Given the description of an element on the screen output the (x, y) to click on. 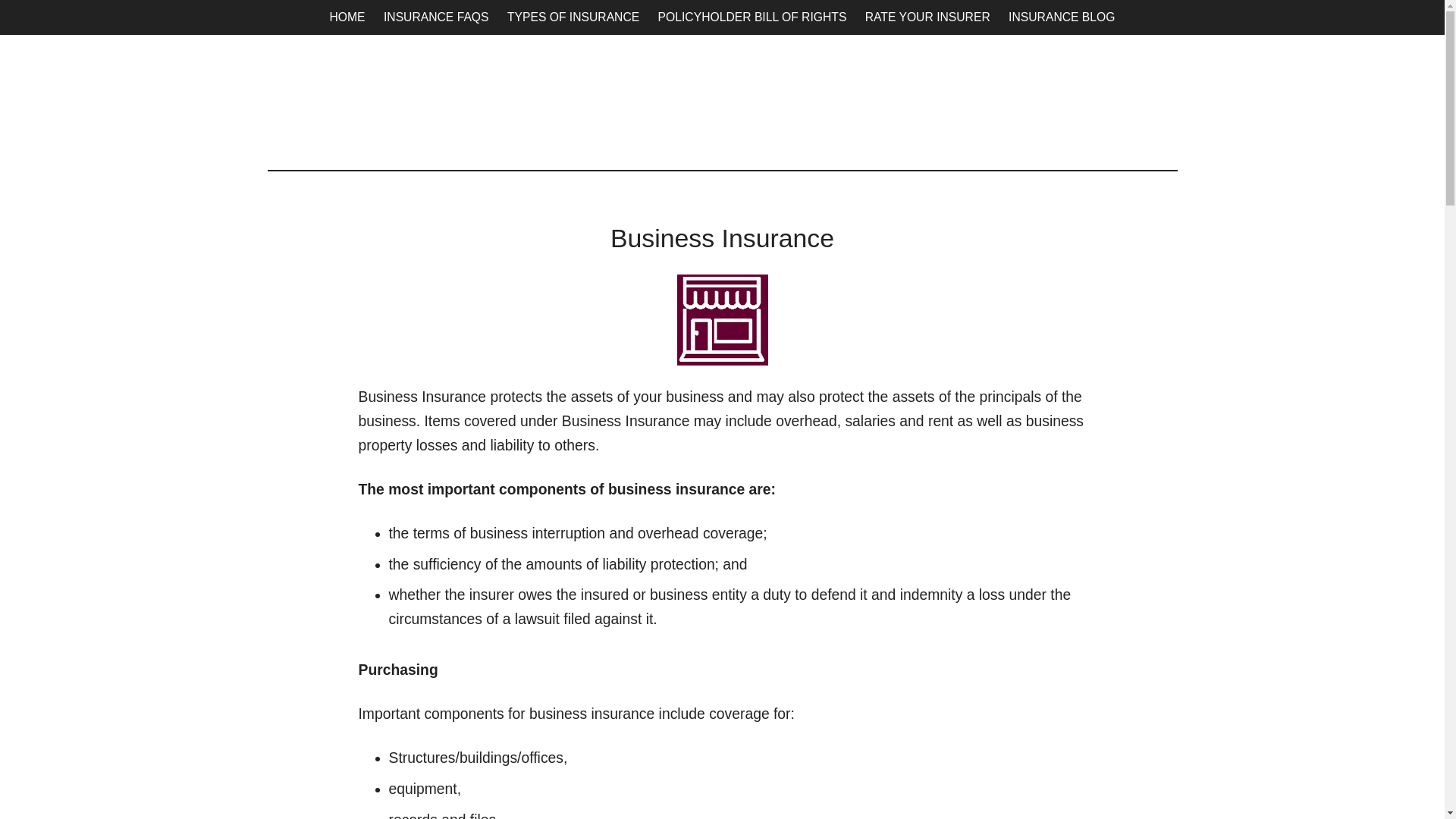
Insurance Consumers (729, 101)
HOME (346, 17)
INSURANCE FAQS (435, 17)
INSURANCE BLOG (1061, 17)
TYPES OF INSURANCE (572, 17)
RATE YOUR INSURER (927, 17)
POLICYHOLDER BILL OF RIGHTS (752, 17)
